Given the description of an element on the screen output the (x, y) to click on. 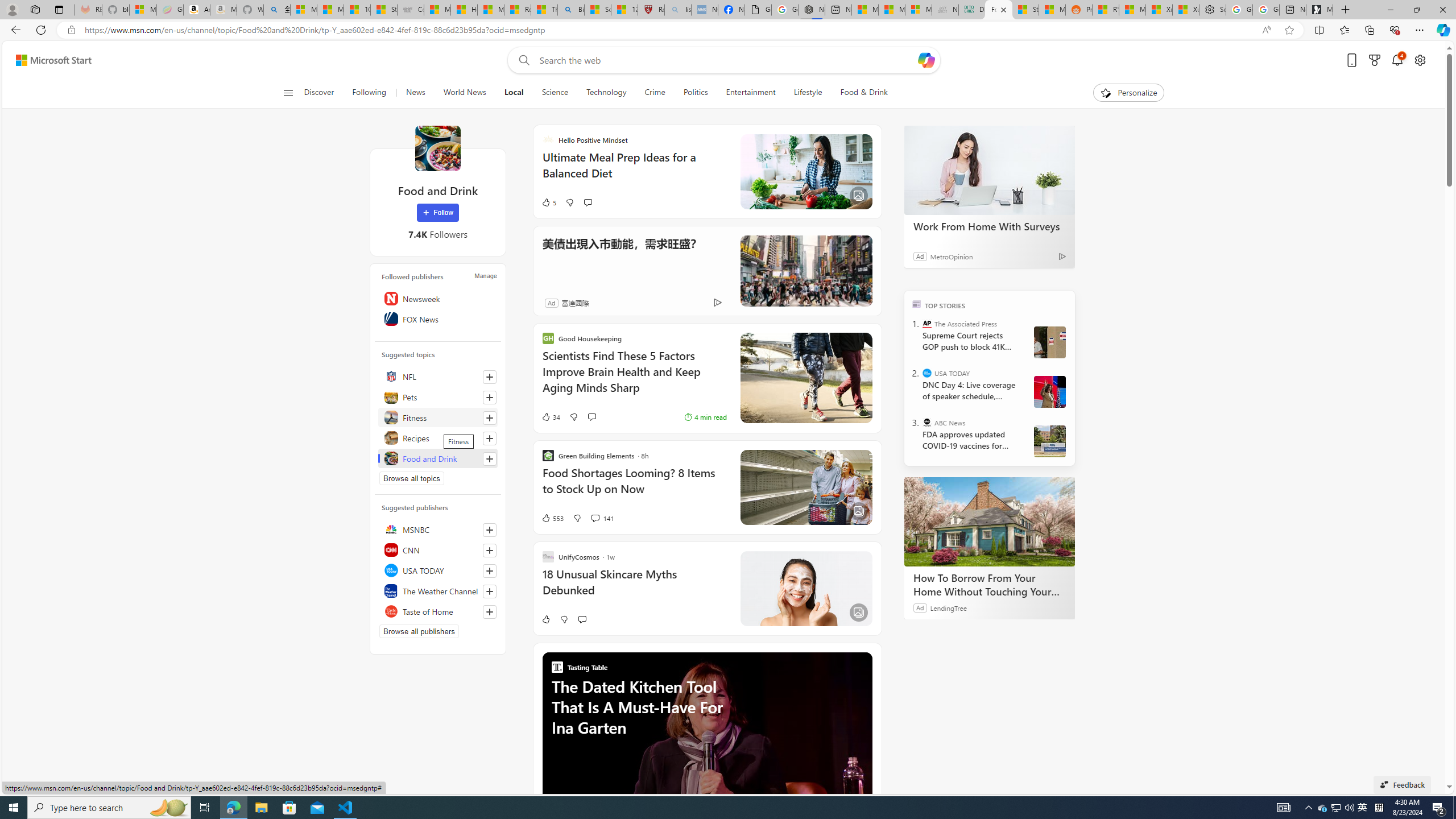
Entertainment (750, 92)
World News (464, 92)
Bing (571, 9)
Like (544, 619)
How To Borrow From Your Home Without Touching Your Mortgage (988, 584)
Enter your search term (726, 59)
Local (513, 92)
